Given the description of an element on the screen output the (x, y) to click on. 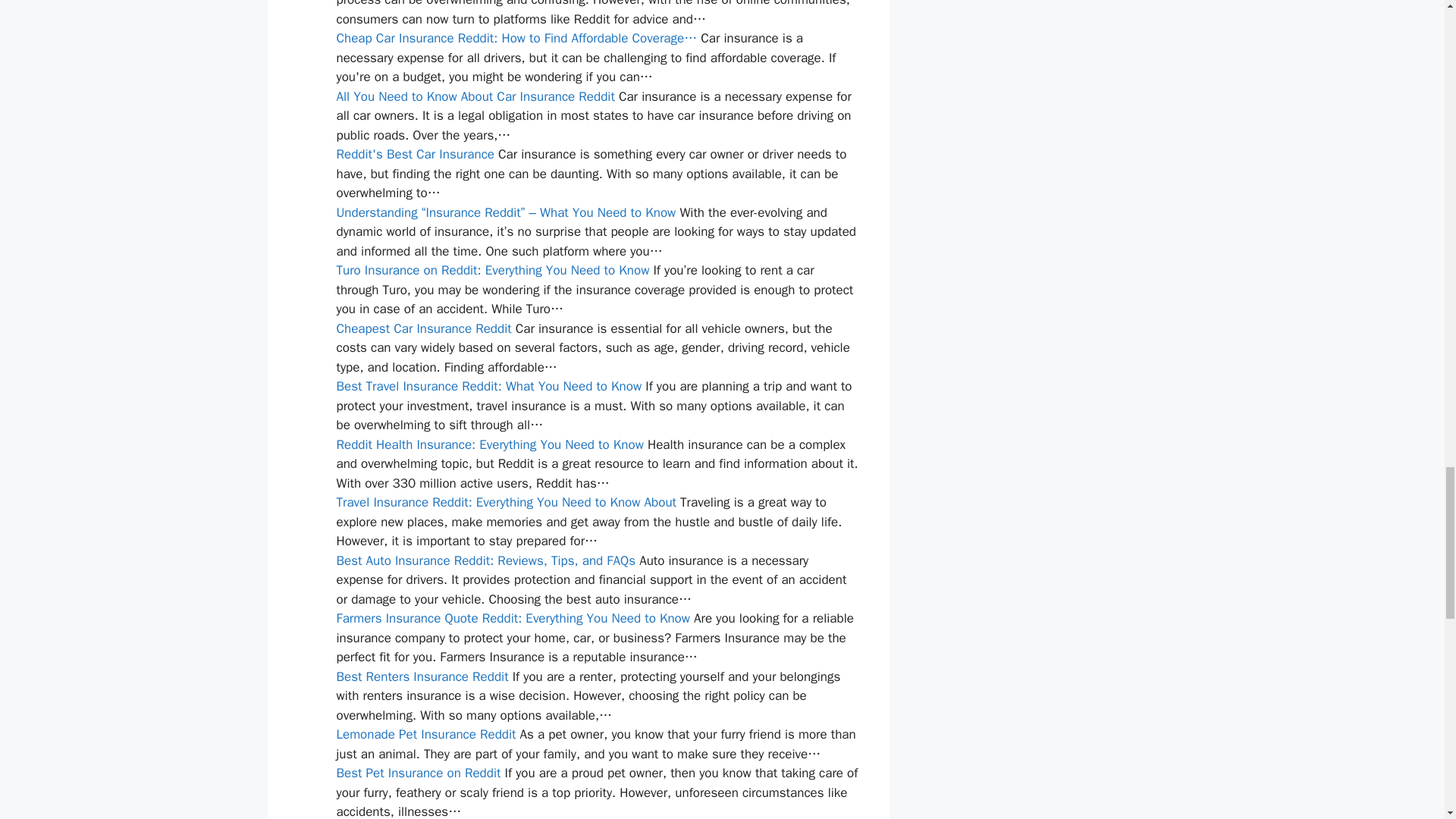
Cheapest Car Insurance Reddit (424, 328)
Lemonade Pet Insurance Reddit (426, 734)
Best Renters Insurance Reddit (422, 676)
All You Need to Know About Car Insurance Reddit (475, 96)
Best Travel Insurance Reddit: What You Need to Know (489, 385)
Turo Insurance on Reddit: Everything You Need to Know (492, 270)
Farmers Insurance Quote Reddit: Everything You Need to Know (513, 618)
Reddit's Best Car Insurance (415, 154)
Best Auto Insurance Reddit: Reviews, Tips, and FAQs (486, 560)
Best Pet Insurance on Reddit (418, 772)
